Given the description of an element on the screen output the (x, y) to click on. 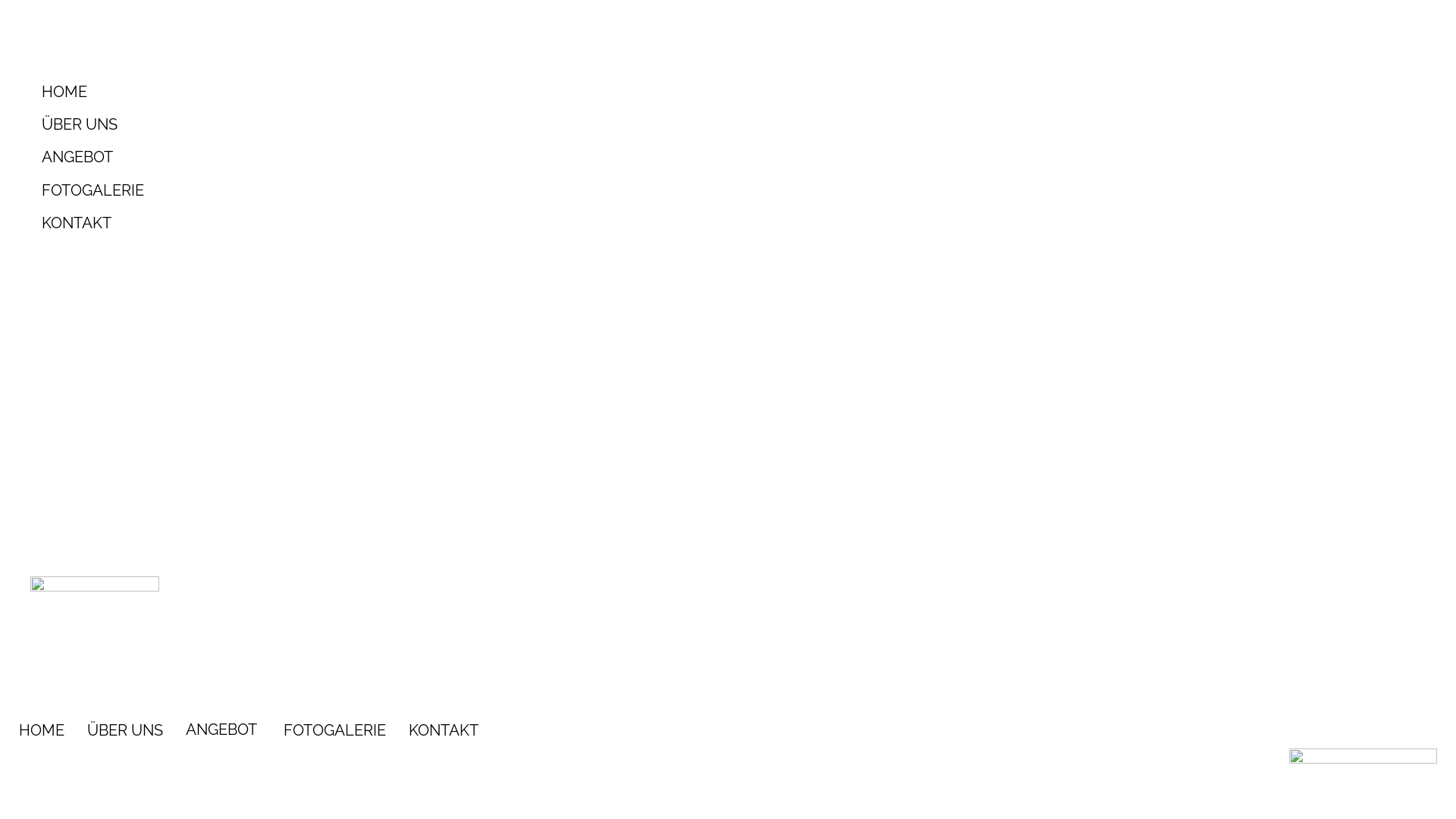
ANGEBOT Element type: text (222, 729)
KONTAKT Element type: text (443, 729)
ANGEBOT Element type: text (284, 157)
KONTAKT Element type: text (284, 223)
HOME Element type: text (41, 729)
HOME Element type: text (284, 91)
FOTOGALERIE Element type: text (334, 729)
FOTOGALERIE Element type: text (284, 190)
